Given the description of an element on the screen output the (x, y) to click on. 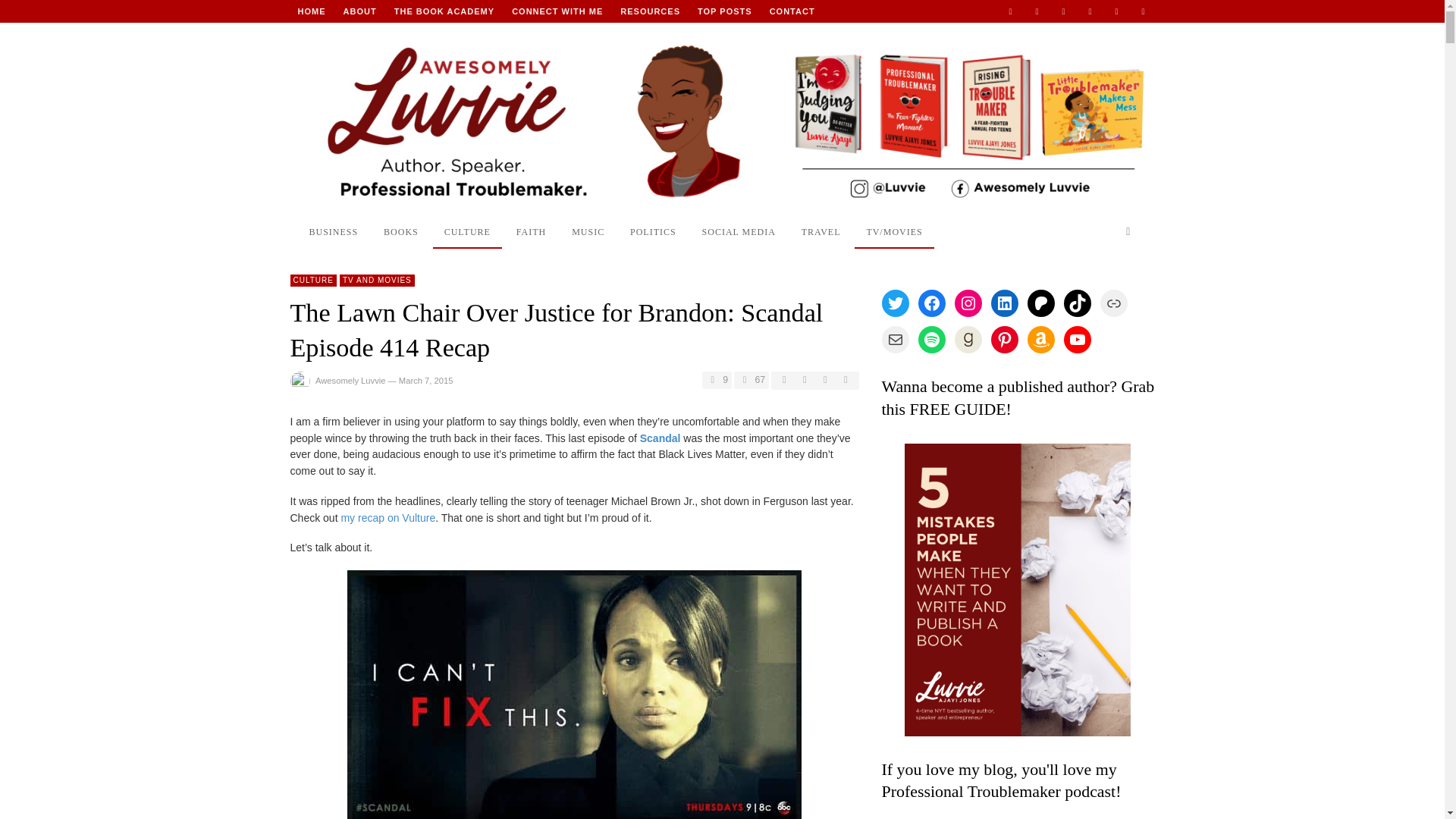
Awesomely Luvvie (311, 11)
CONNECT WITH ME (556, 11)
Instagram (1063, 11)
Pinterest (1116, 11)
HOME (311, 11)
Facebook (1036, 11)
Contact (791, 11)
THE BOOK ACADEMY (444, 11)
ABOUT (360, 11)
LinkedIn (1089, 11)
